Given the description of an element on the screen output the (x, y) to click on. 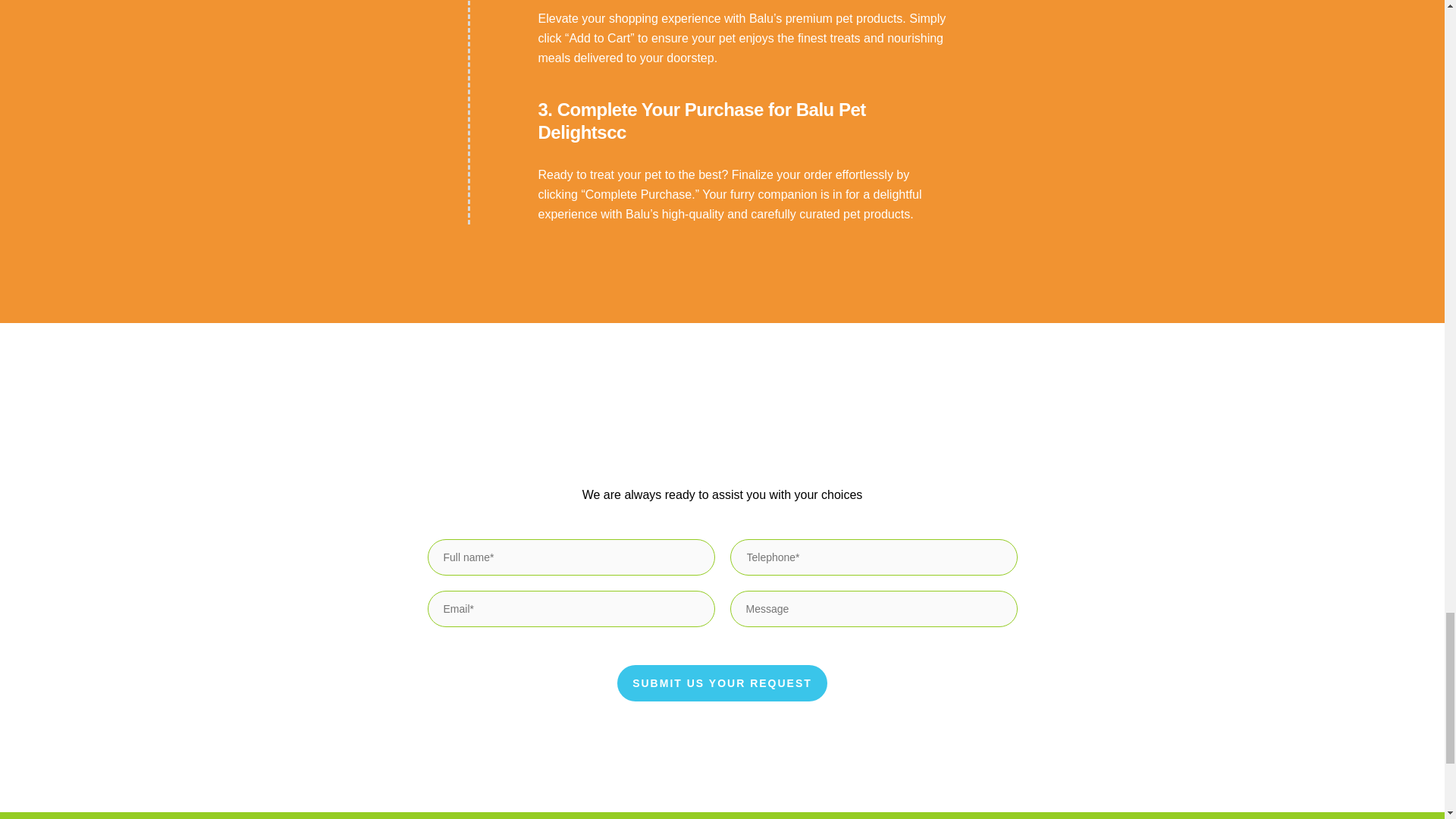
Submit us your request (722, 683)
Submit us your request (722, 683)
